Given the description of an element on the screen output the (x, y) to click on. 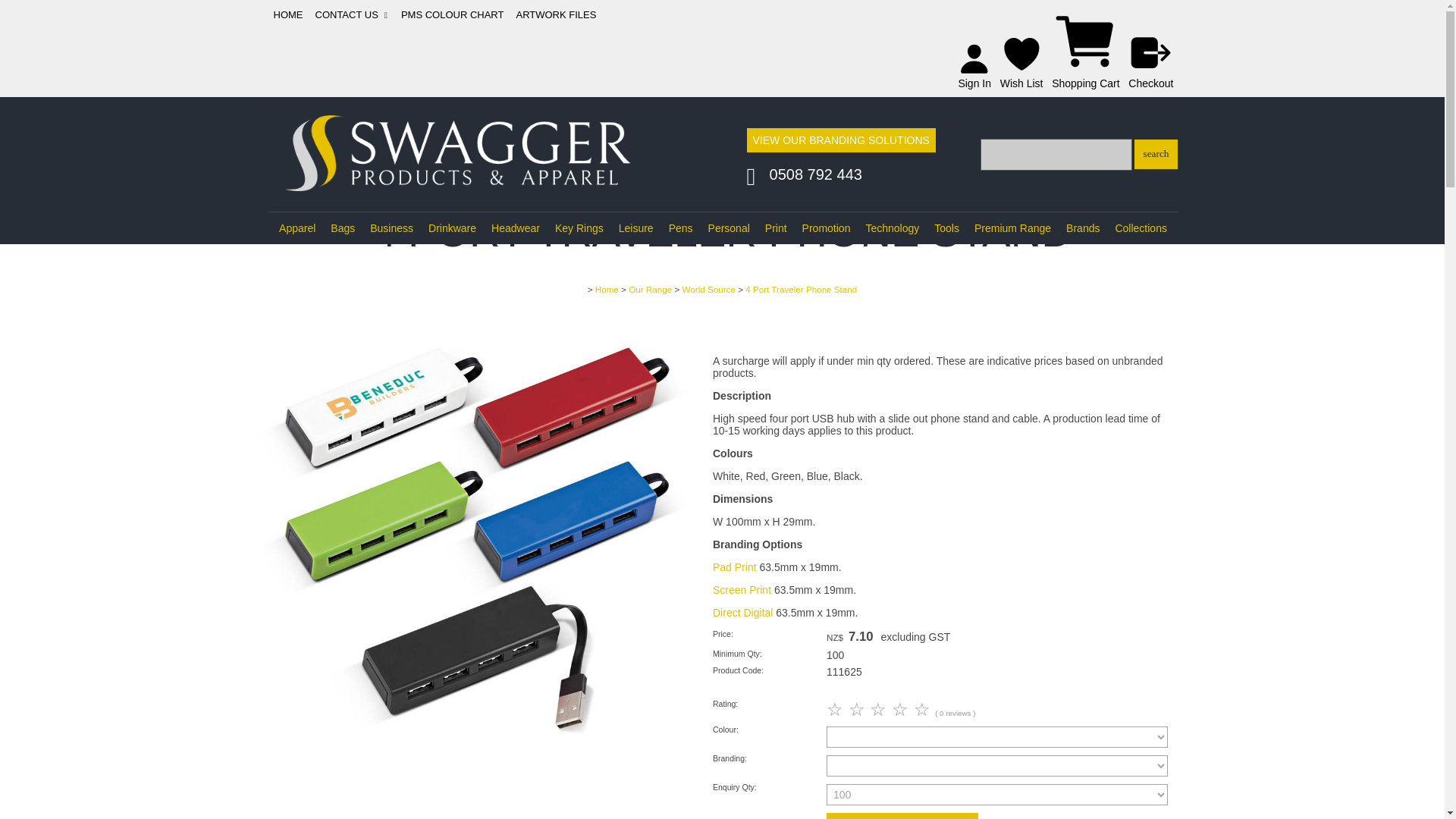
0508 792 443 (815, 175)
search (1155, 153)
VIEW OUR BRANDING SOLUTIONS (839, 139)
4 Port Traveler Phone Stand (475, 749)
HOME (287, 14)
Apparel (297, 227)
ARTWORK FILES (555, 14)
Bags (342, 227)
PMS COLOUR CHART (452, 14)
Submit Product Review (880, 709)
